Given the description of an element on the screen output the (x, y) to click on. 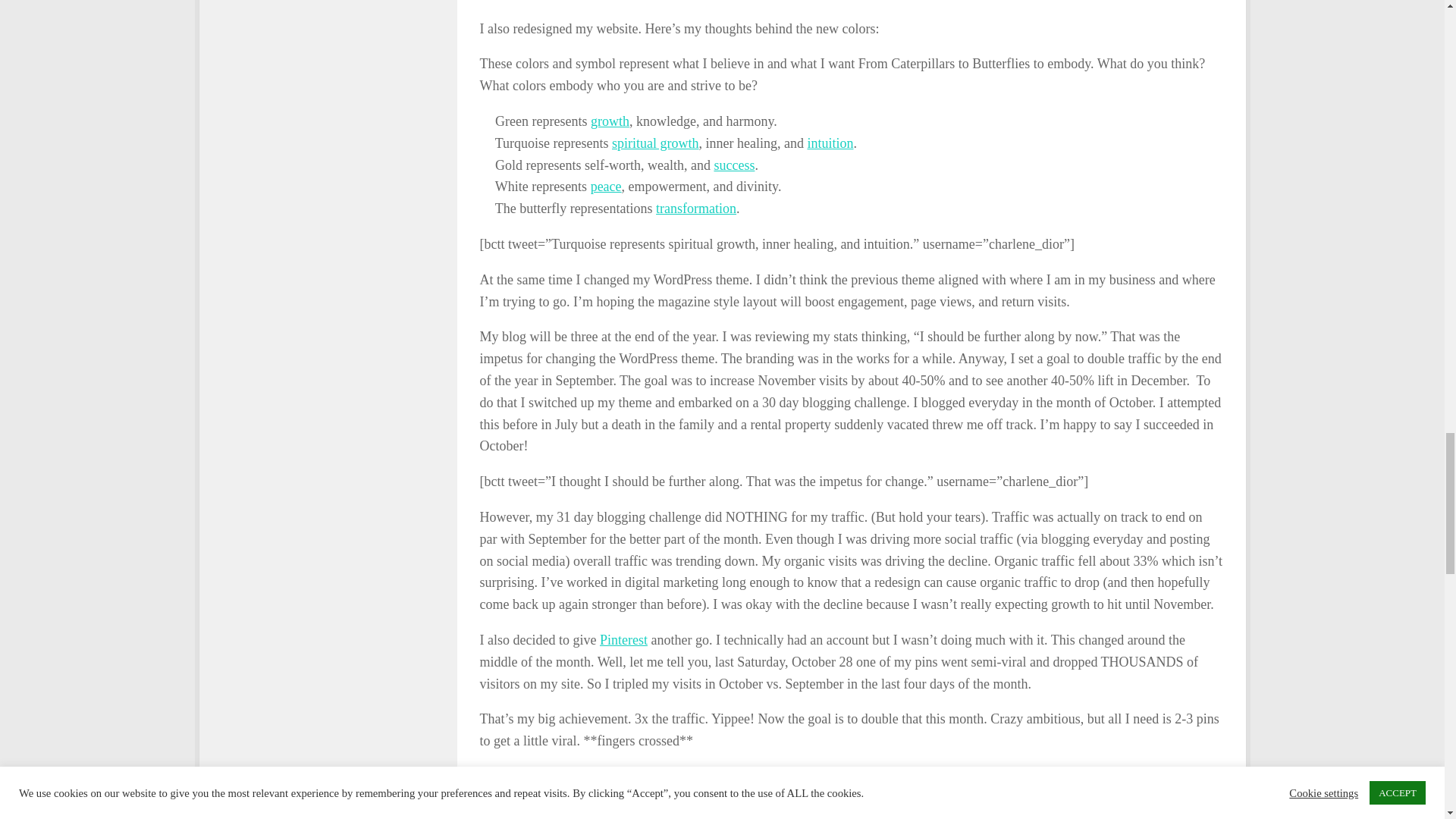
transformation (696, 208)
peace (606, 186)
Pinterest (623, 639)
intuition (829, 142)
spiritual growth (654, 142)
growth (609, 120)
success (733, 165)
